Given the description of an element on the screen output the (x, y) to click on. 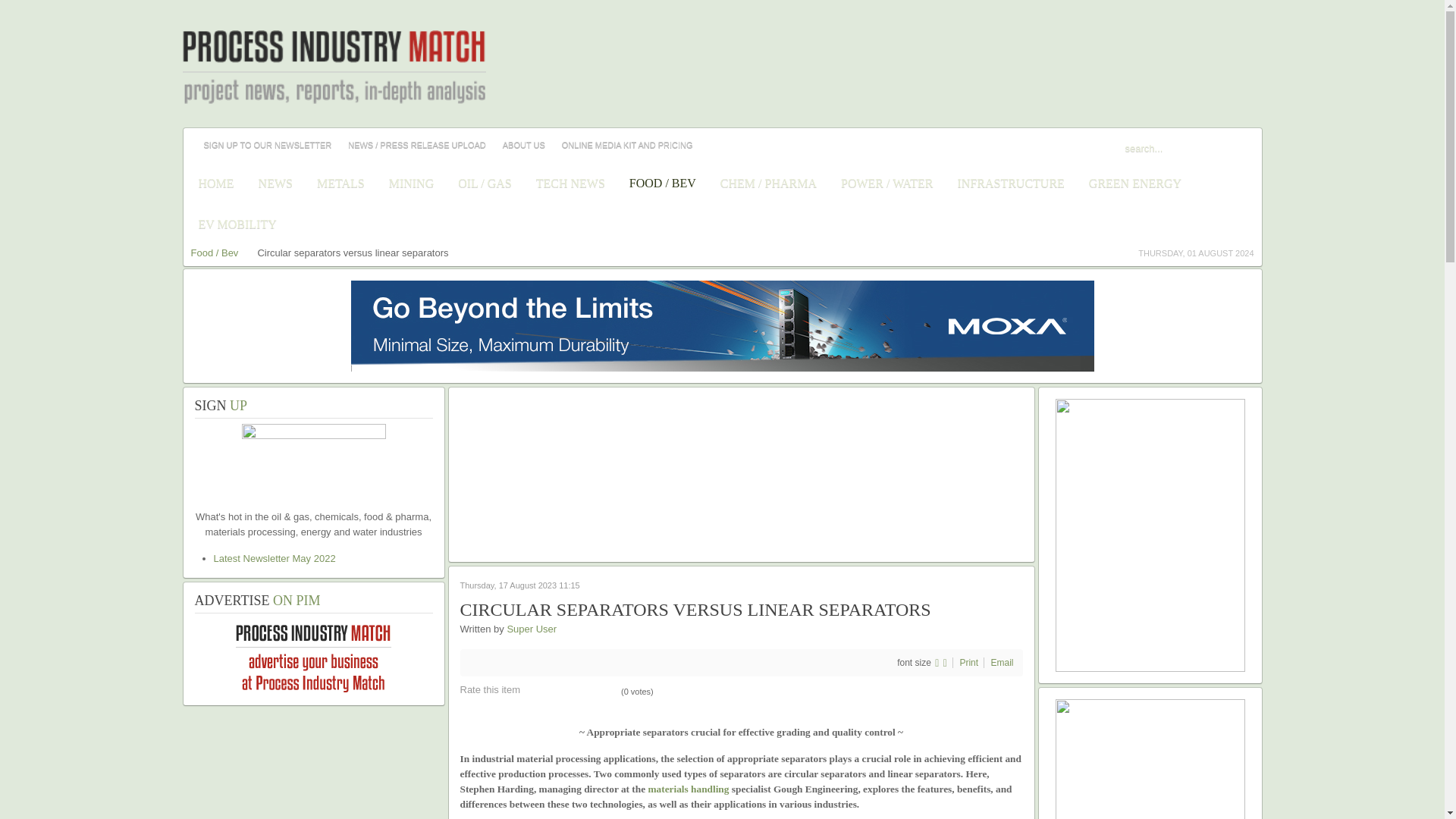
ONLINE MEDIA KIT AND PRICING (627, 144)
SIGN UP TO OUR NEWSLETTER (267, 144)
Email (1001, 662)
GREEN ENERGY (1134, 182)
2 (541, 691)
MINING (411, 182)
4 stars out of 5 (560, 691)
5 stars out of 5 (569, 691)
1 star out of 5 (531, 691)
INFRASTRUCTURE (1009, 182)
Print (969, 662)
3 (550, 691)
4 (560, 691)
EV MOBILITY (236, 223)
Super User (531, 628)
